Given the description of an element on the screen output the (x, y) to click on. 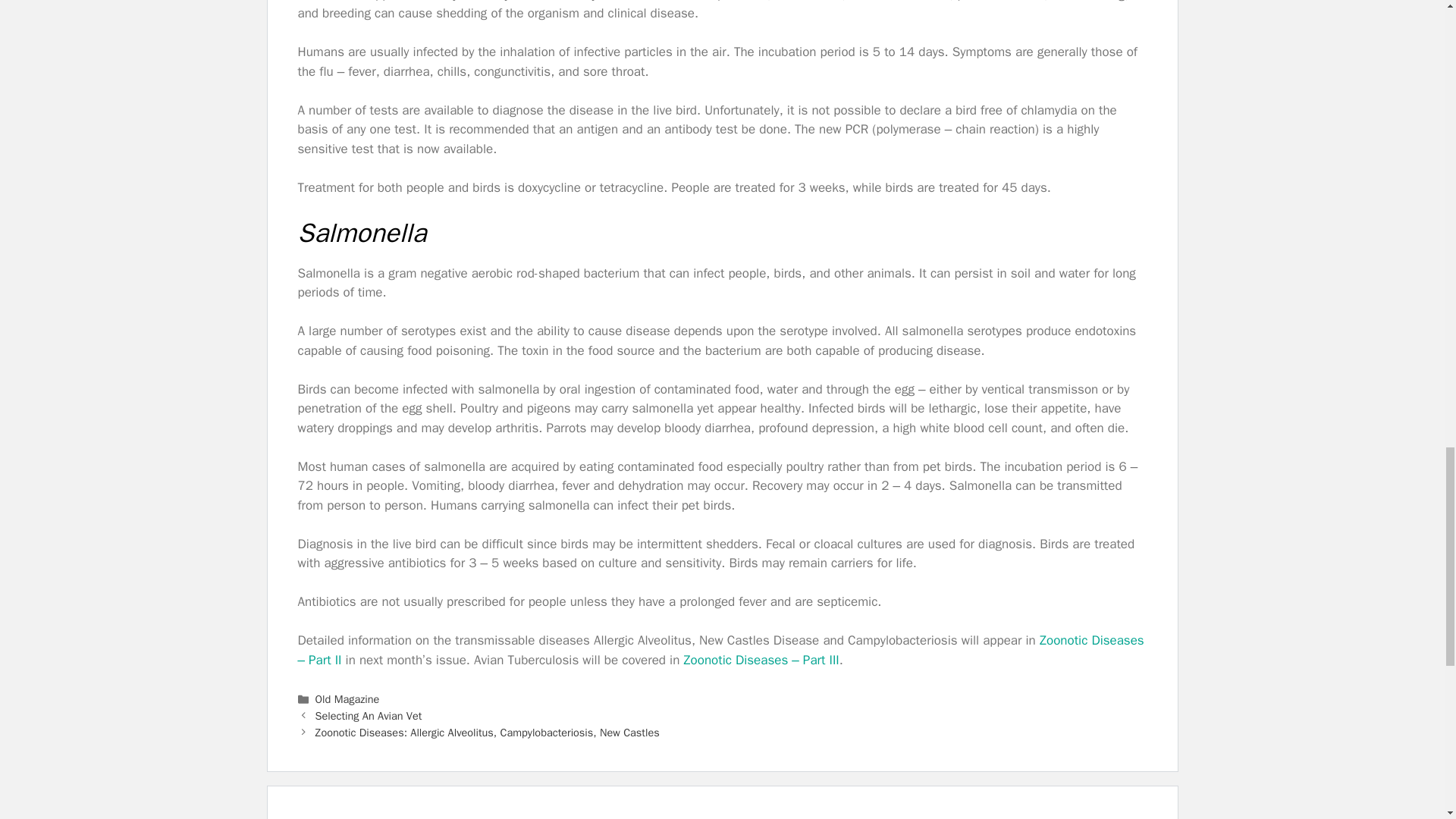
Old Magazine (347, 698)
Selecting An Avian Vet (368, 715)
